Given the description of an element on the screen output the (x, y) to click on. 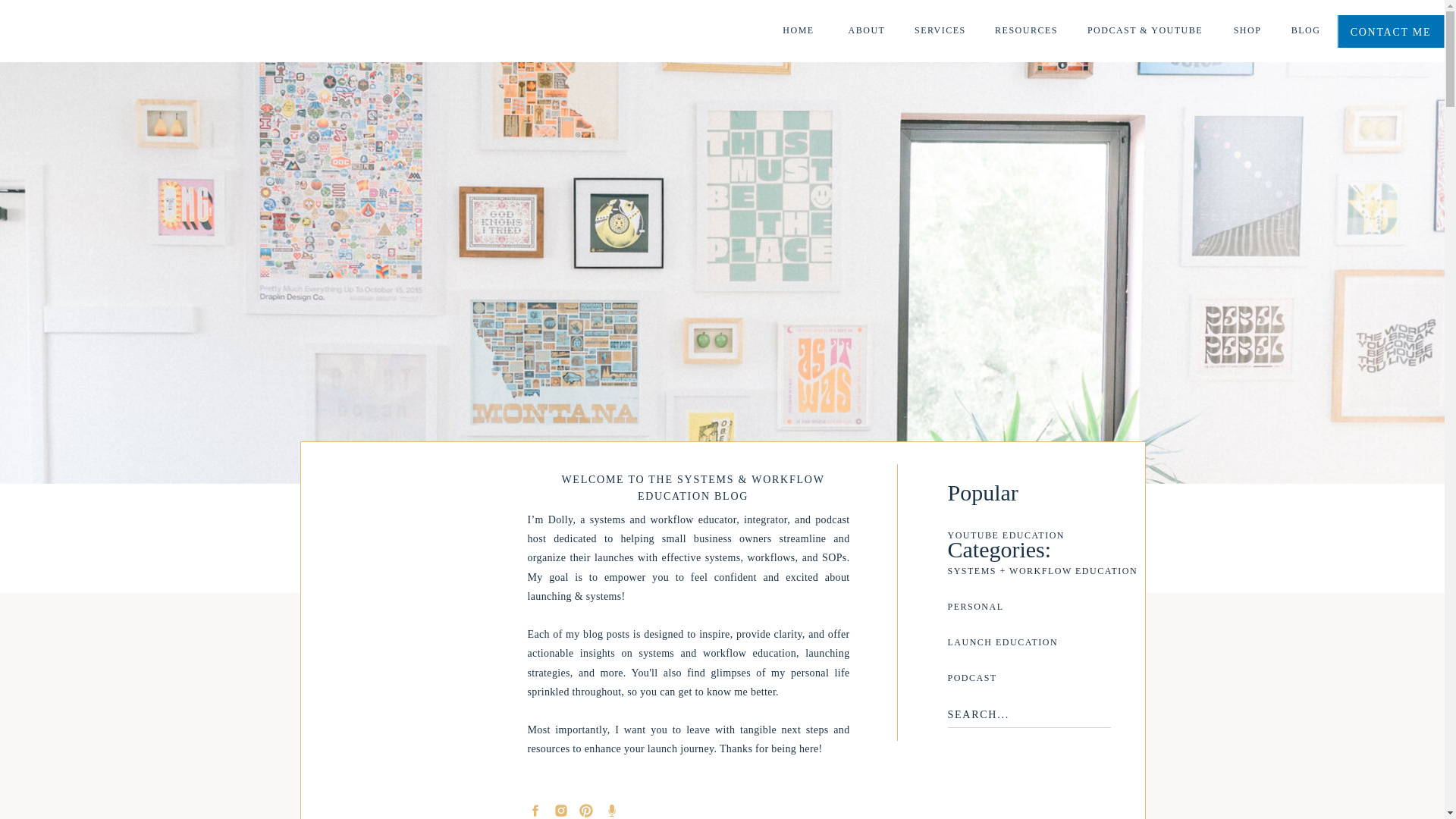
ABOUT (867, 31)
LAUNCH EDUCATION (1023, 647)
PODCAST (1023, 683)
YOUTUBE EDUCATION (1037, 540)
HOME (798, 31)
BLOG (1305, 31)
CONTACT ME (1389, 31)
SHOP (1247, 31)
RESOURCES (1026, 31)
SERVICES (938, 31)
